Given the description of an element on the screen output the (x, y) to click on. 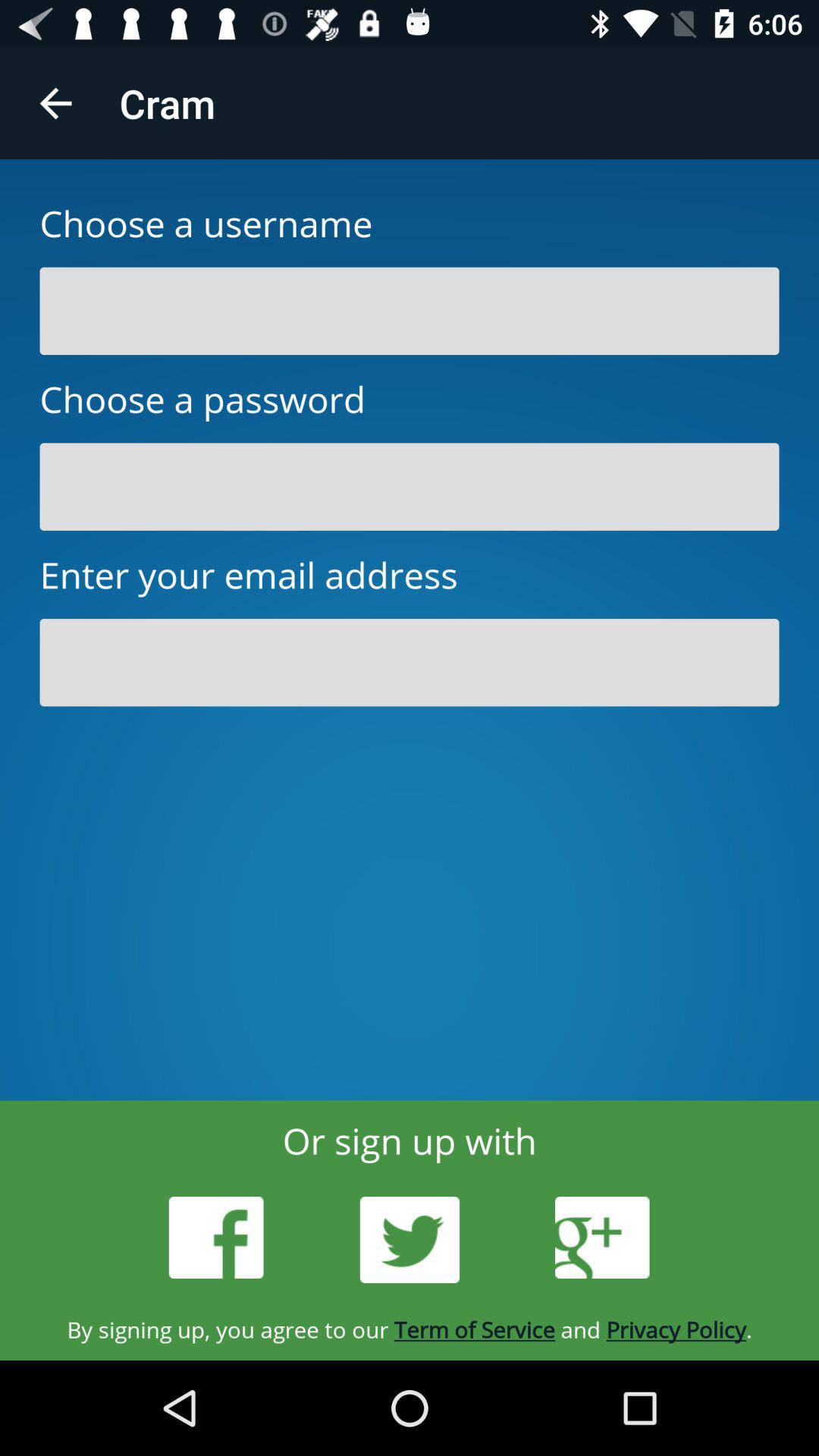
tap the icon at the bottom right corner (602, 1237)
